Given the description of an element on the screen output the (x, y) to click on. 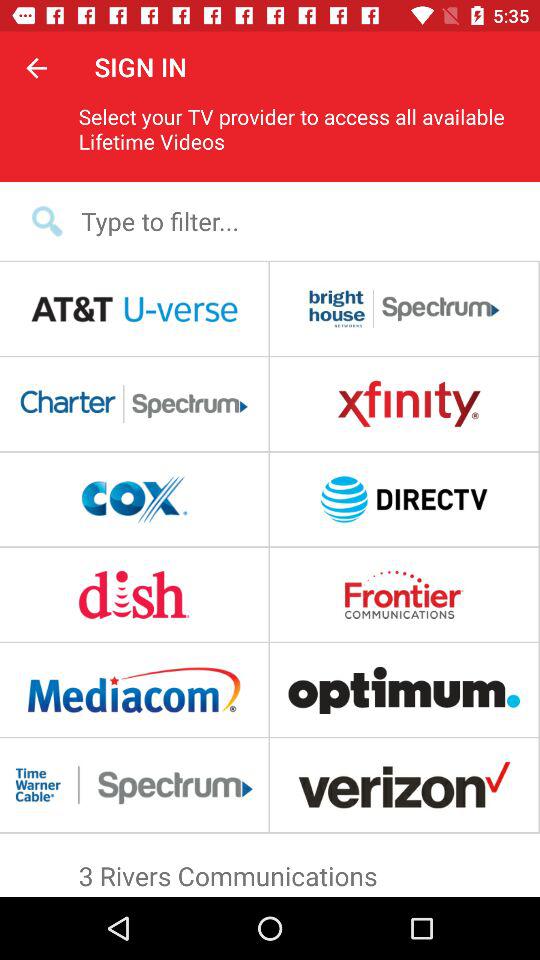
turn on the icon to the left of the select your tv (36, 67)
